Given the description of an element on the screen output the (x, y) to click on. 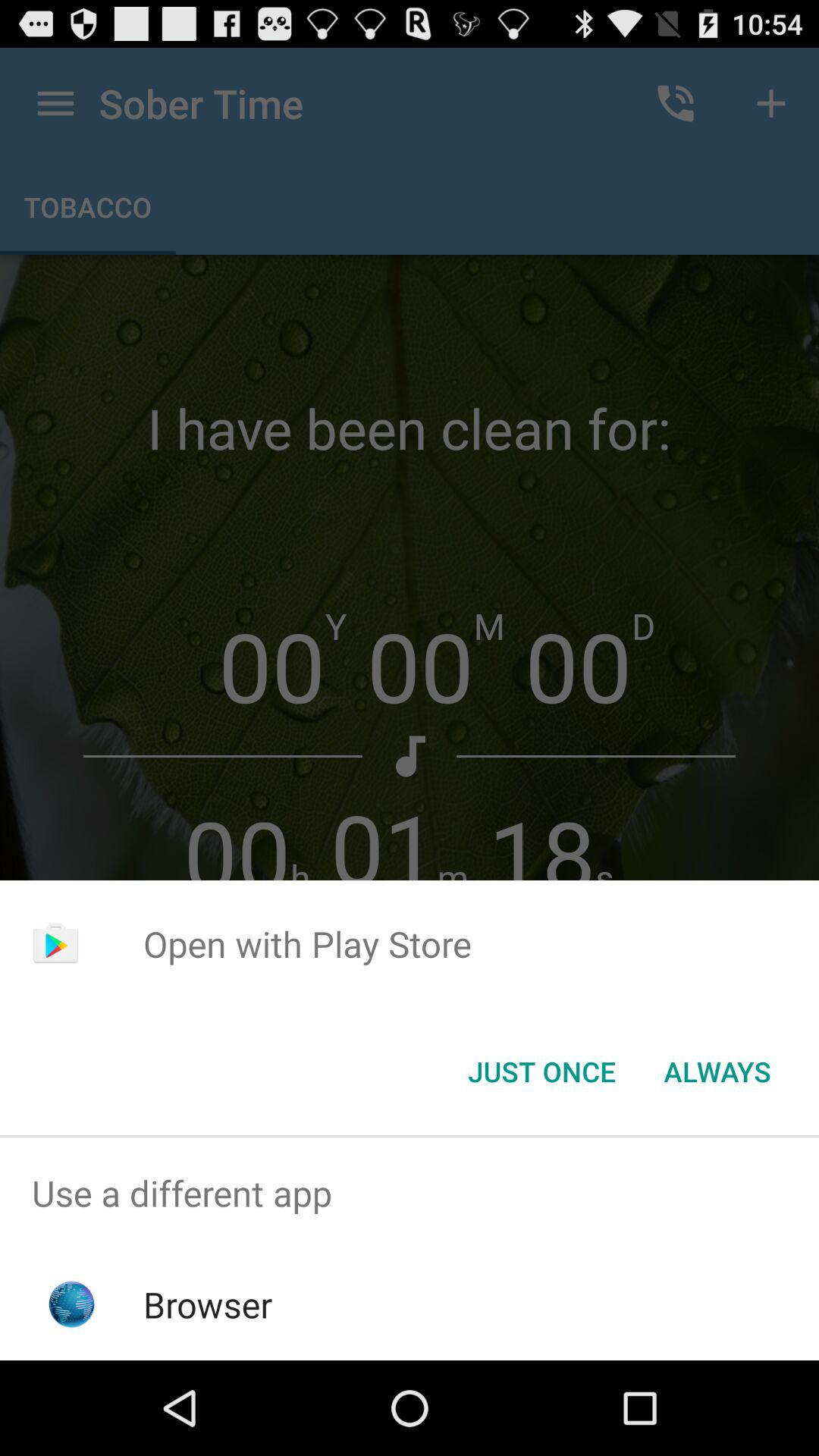
turn off the icon below open with play icon (541, 1071)
